Given the description of an element on the screen output the (x, y) to click on. 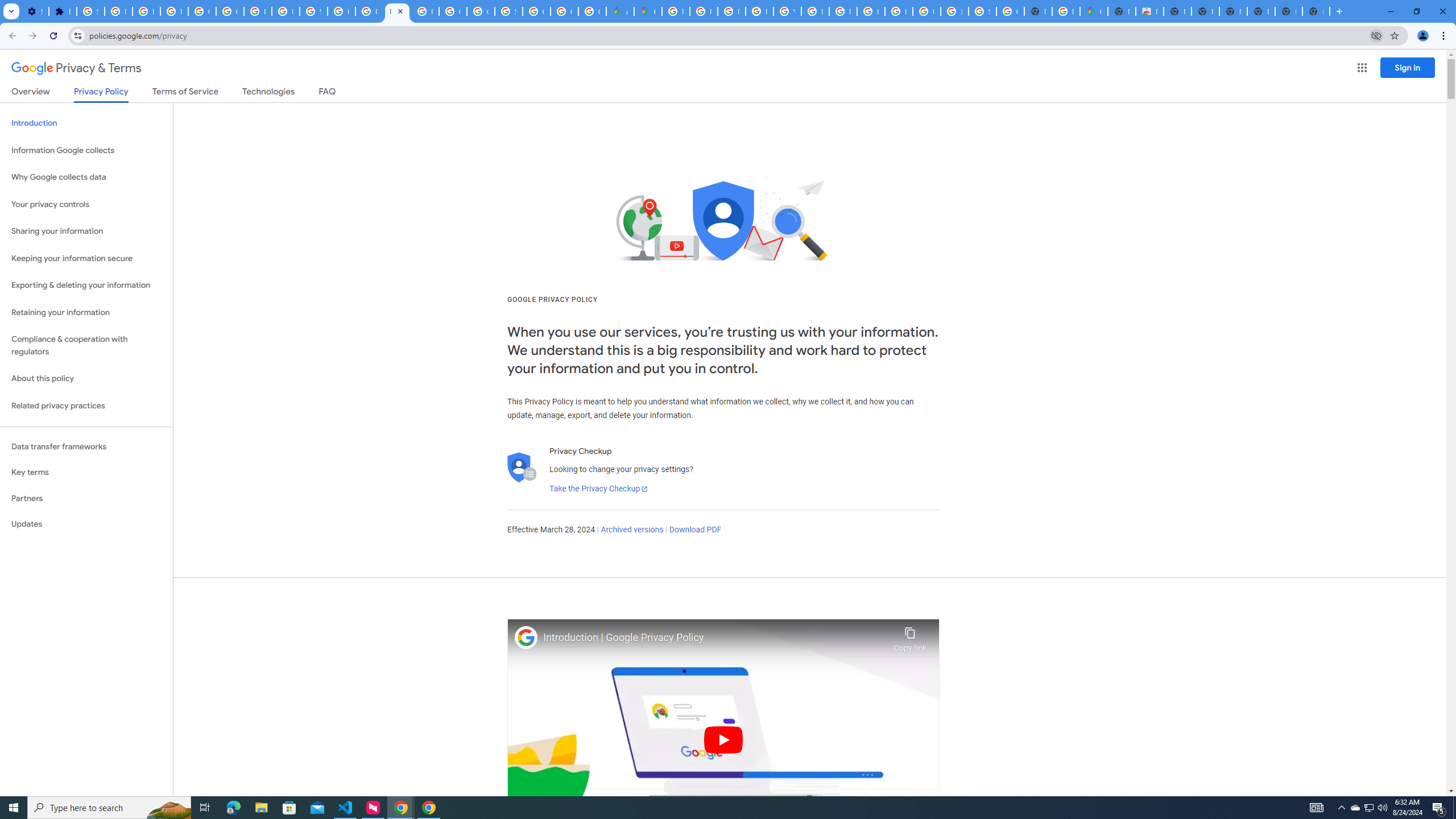
FAQ (327, 93)
About this policy (86, 379)
New Tab (1316, 11)
Archived versions (631, 529)
Terms of Service (184, 93)
Google Maps (1093, 11)
New Tab (1121, 11)
Google Maps (647, 11)
Why Google collects data (86, 176)
Your privacy controls (86, 204)
Information Google collects (86, 150)
Compliance & cooperation with regulators (86, 345)
